Given the description of an element on the screen output the (x, y) to click on. 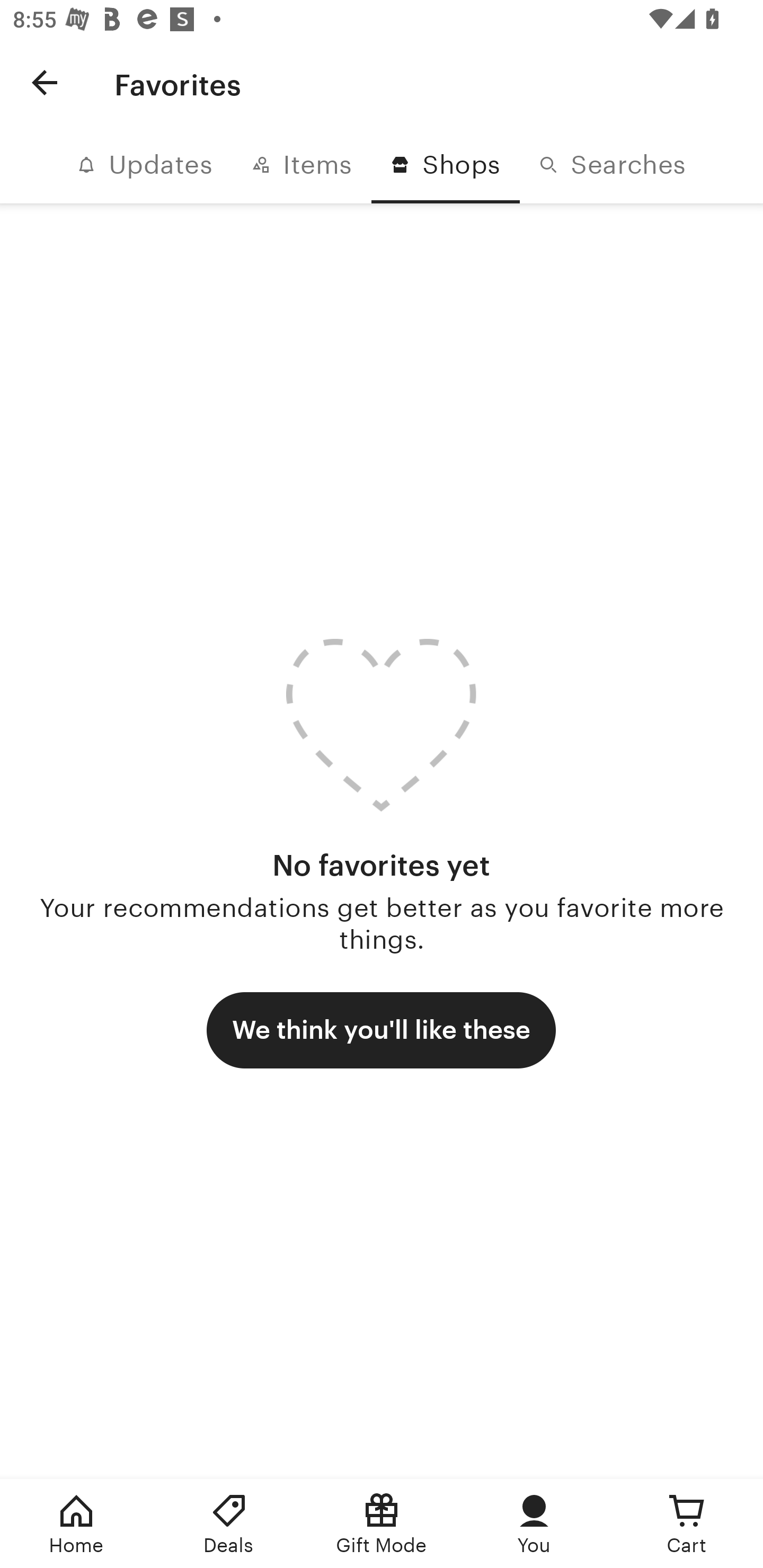
Navigate up (44, 82)
Updates, tab 1 of 4 Updates (144, 165)
Items, tab 2 of 4 Items (301, 165)
Searches, tab 4 of 4 Searches (612, 165)
We think you'll like these (380, 1029)
Home (76, 1523)
Deals (228, 1523)
Gift Mode (381, 1523)
Cart (686, 1523)
